Given the description of an element on the screen output the (x, y) to click on. 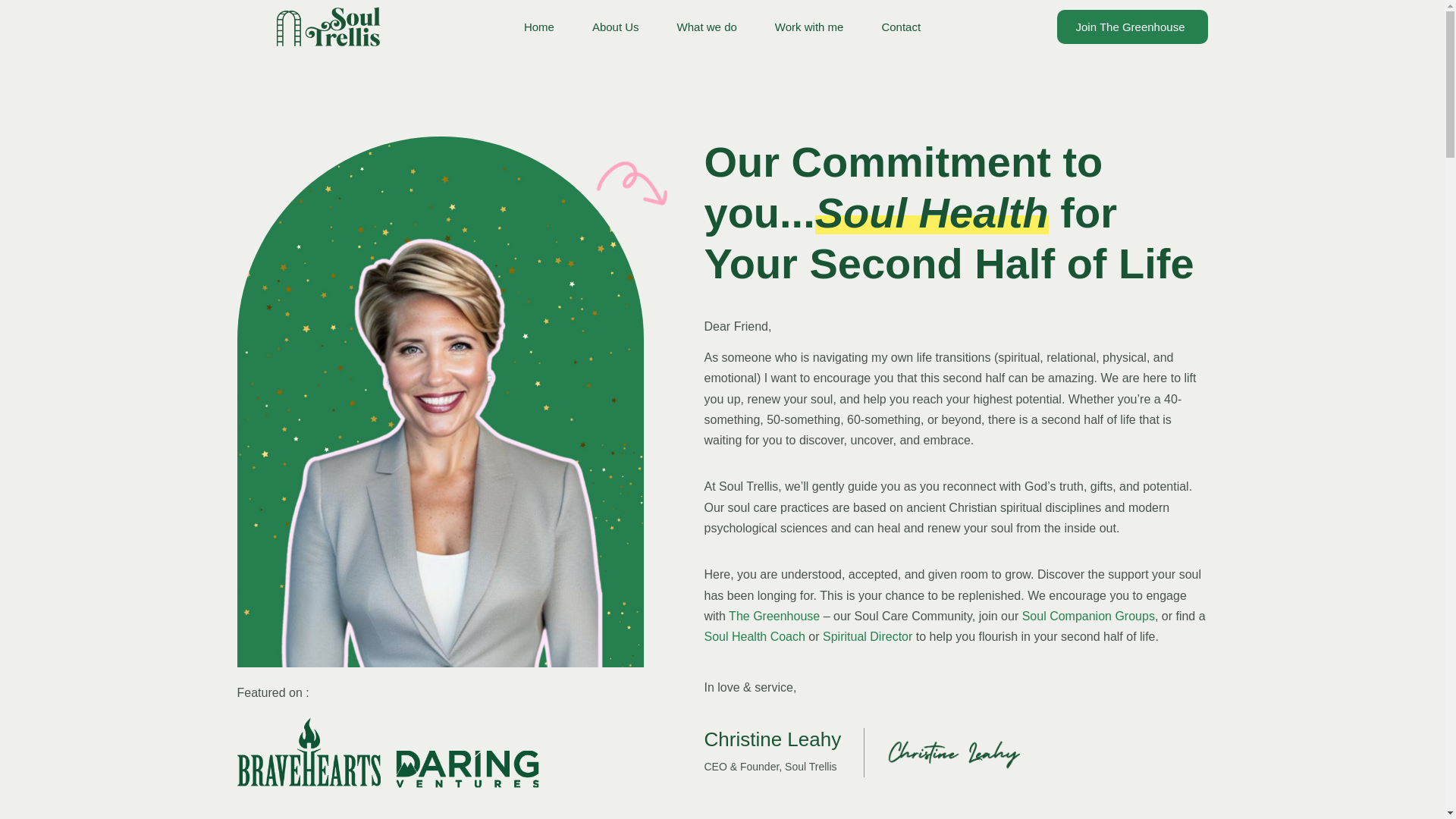
Soul Health Coach (754, 635)
What we do (706, 26)
Spiritual Director (867, 635)
Soul Companion Groups (1088, 615)
Work with me (809, 26)
Join The Greenhouse (1132, 26)
The Greenhouse (774, 615)
